Given the description of an element on the screen output the (x, y) to click on. 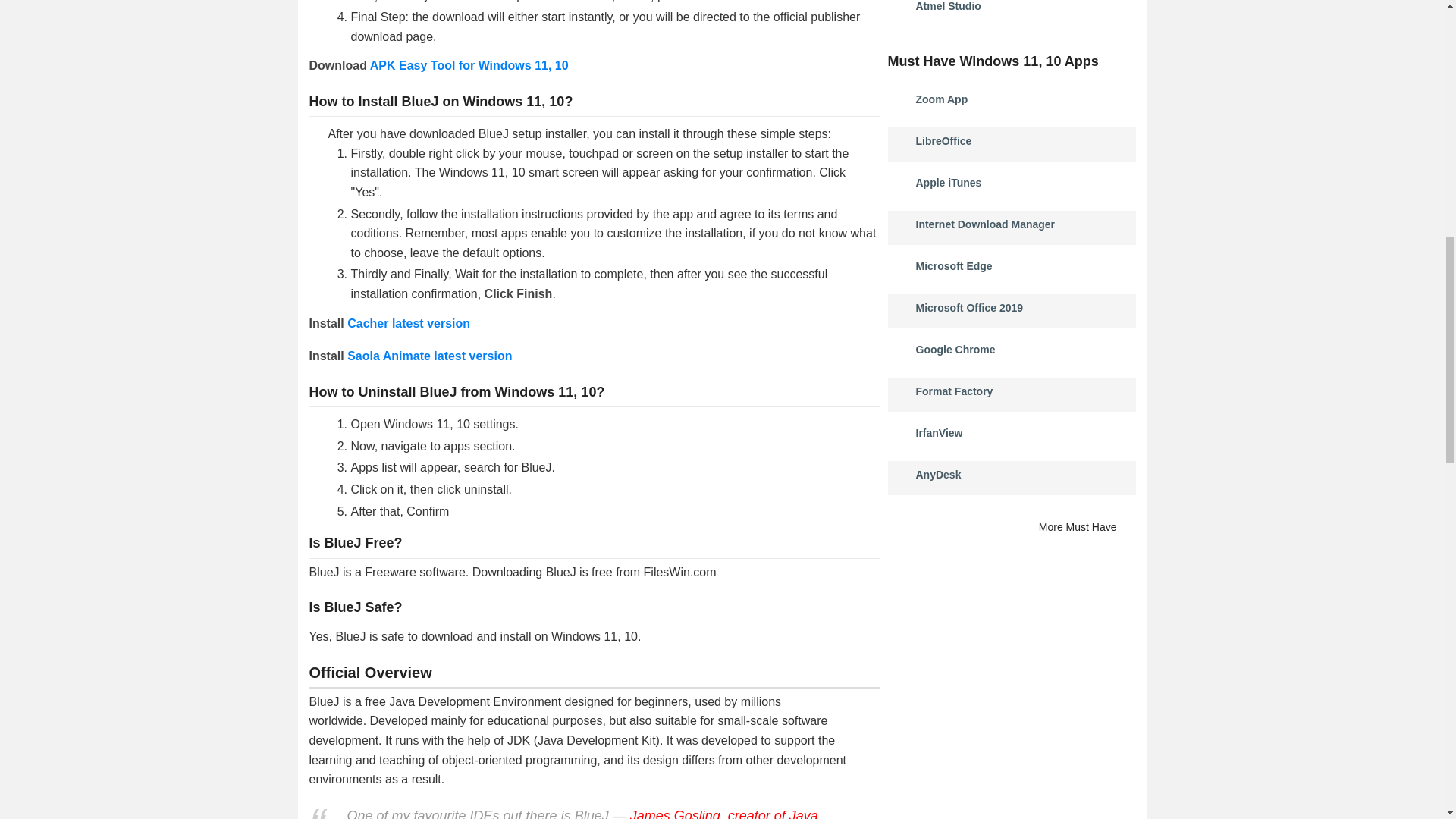
Download APK Easy Tool for Windows 11, 10 (469, 65)
Apple iTunes (948, 182)
Microsoft Edge (953, 265)
LibreOffice (943, 141)
Internet Download Manager (985, 224)
APK Easy Tool for Windows 11, 10 (469, 65)
Saola Animate latest version (429, 355)
Install Cacher latest version (408, 323)
Zoom App (941, 99)
Cacher latest version (408, 323)
Format Factory (953, 390)
More Must Have (1087, 527)
Microsoft Office 2019 (969, 307)
Atmel Studio (948, 6)
Google Chrome (955, 349)
